Given the description of an element on the screen output the (x, y) to click on. 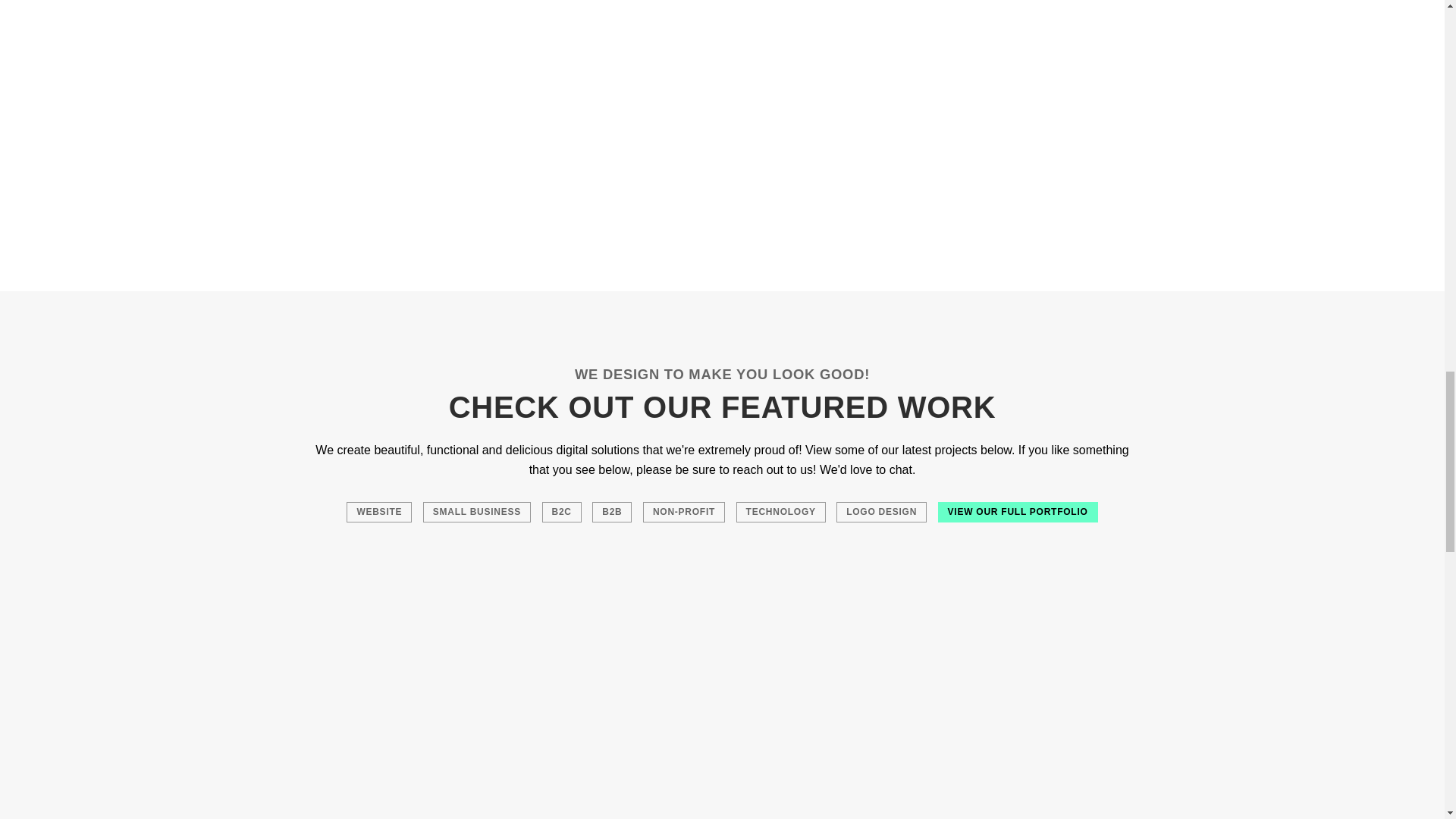
SMALL BUSINESS (477, 511)
WEBSITE (379, 511)
CHECK OUT OUR FEATURED WORK (721, 407)
